Given the description of an element on the screen output the (x, y) to click on. 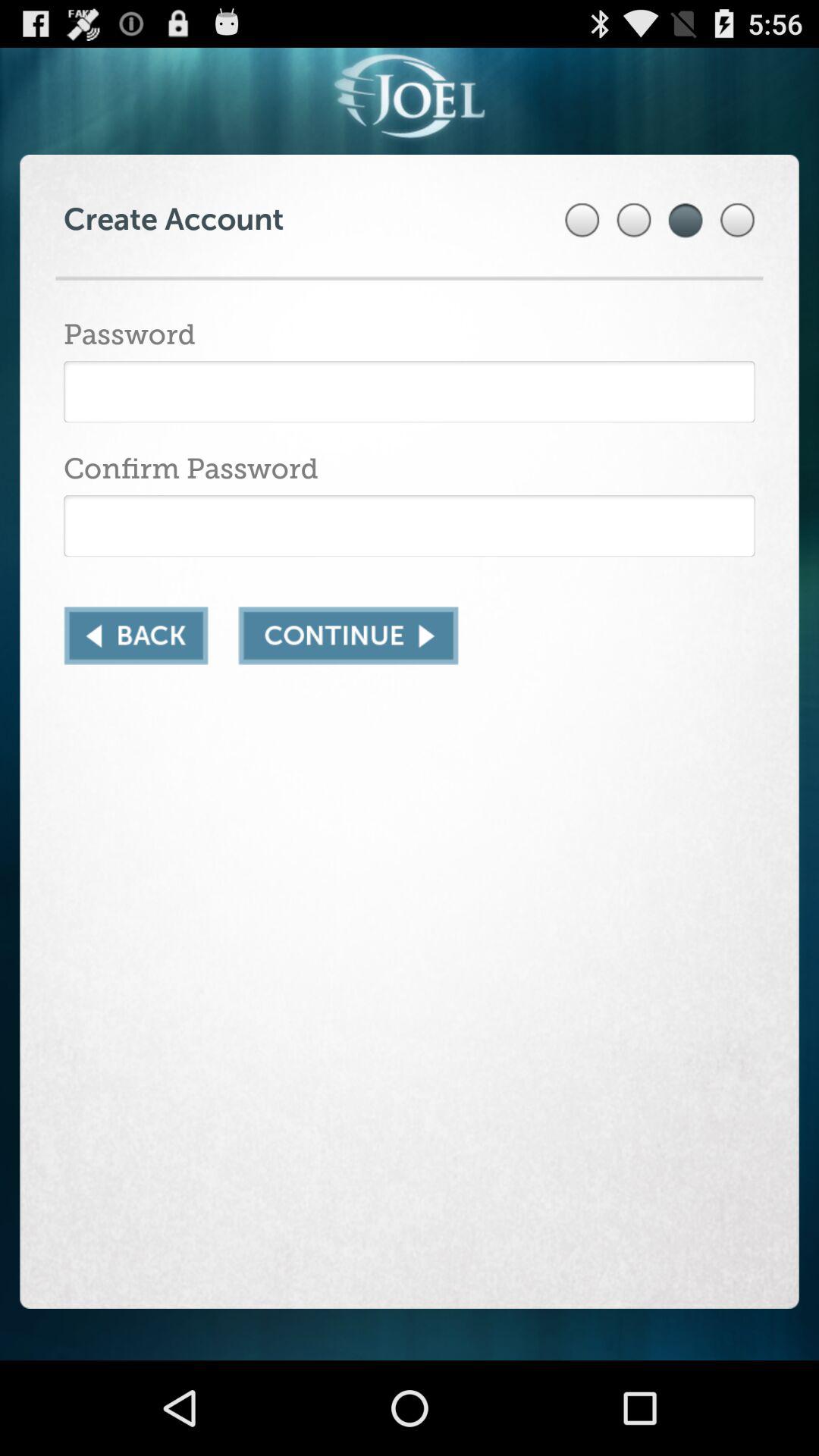
reenter your password (409, 525)
